Given the description of an element on the screen output the (x, y) to click on. 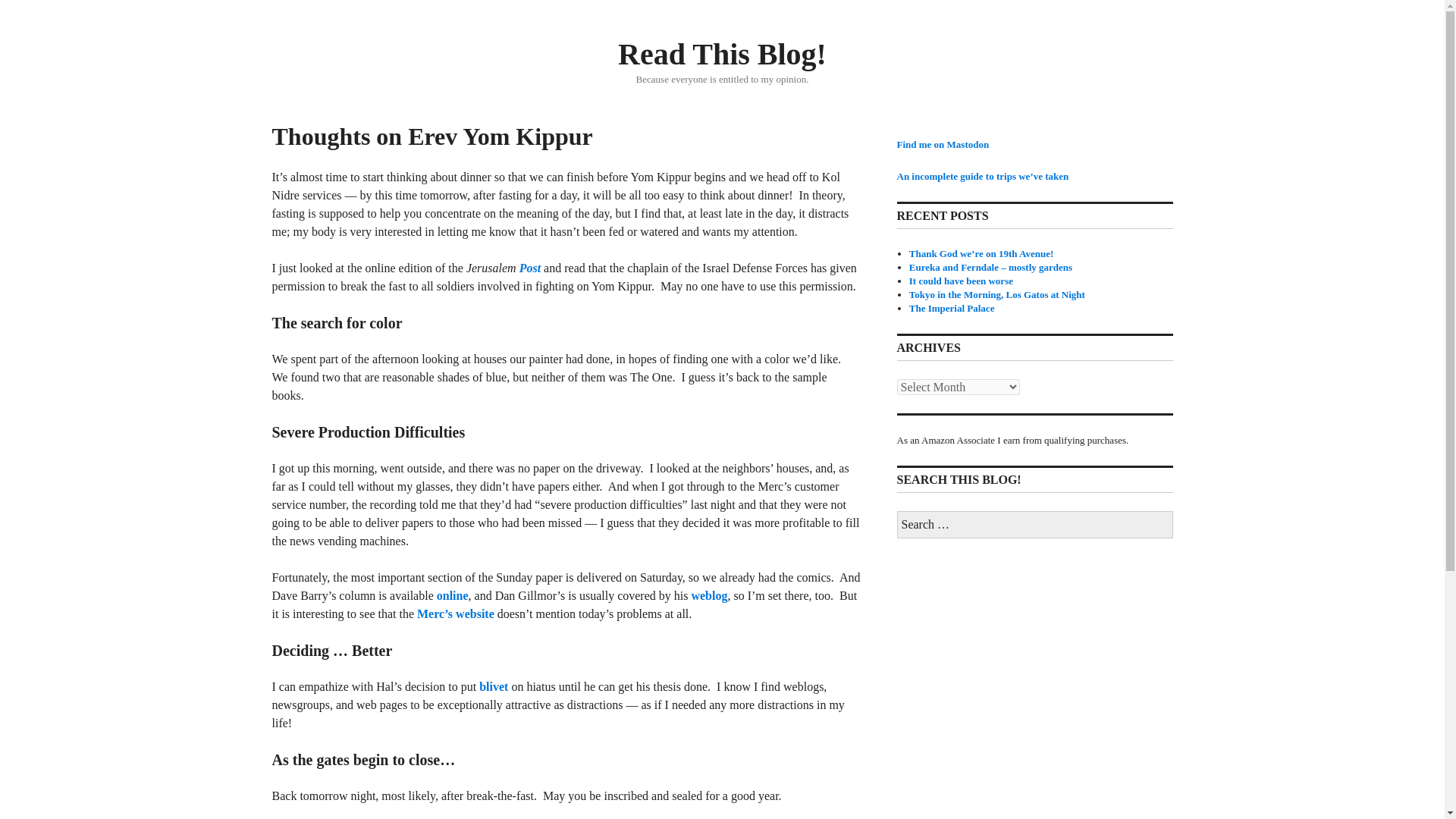
Search (8, 4)
weblog (708, 594)
It could have been worse (960, 280)
The Imperial Palace (951, 307)
Post (529, 267)
online (452, 594)
Read This Blog! (722, 53)
Find me on Mastodon (942, 143)
blivet (493, 686)
Tokyo in the Morning, Los Gatos at Night (996, 294)
